Given the description of an element on the screen output the (x, y) to click on. 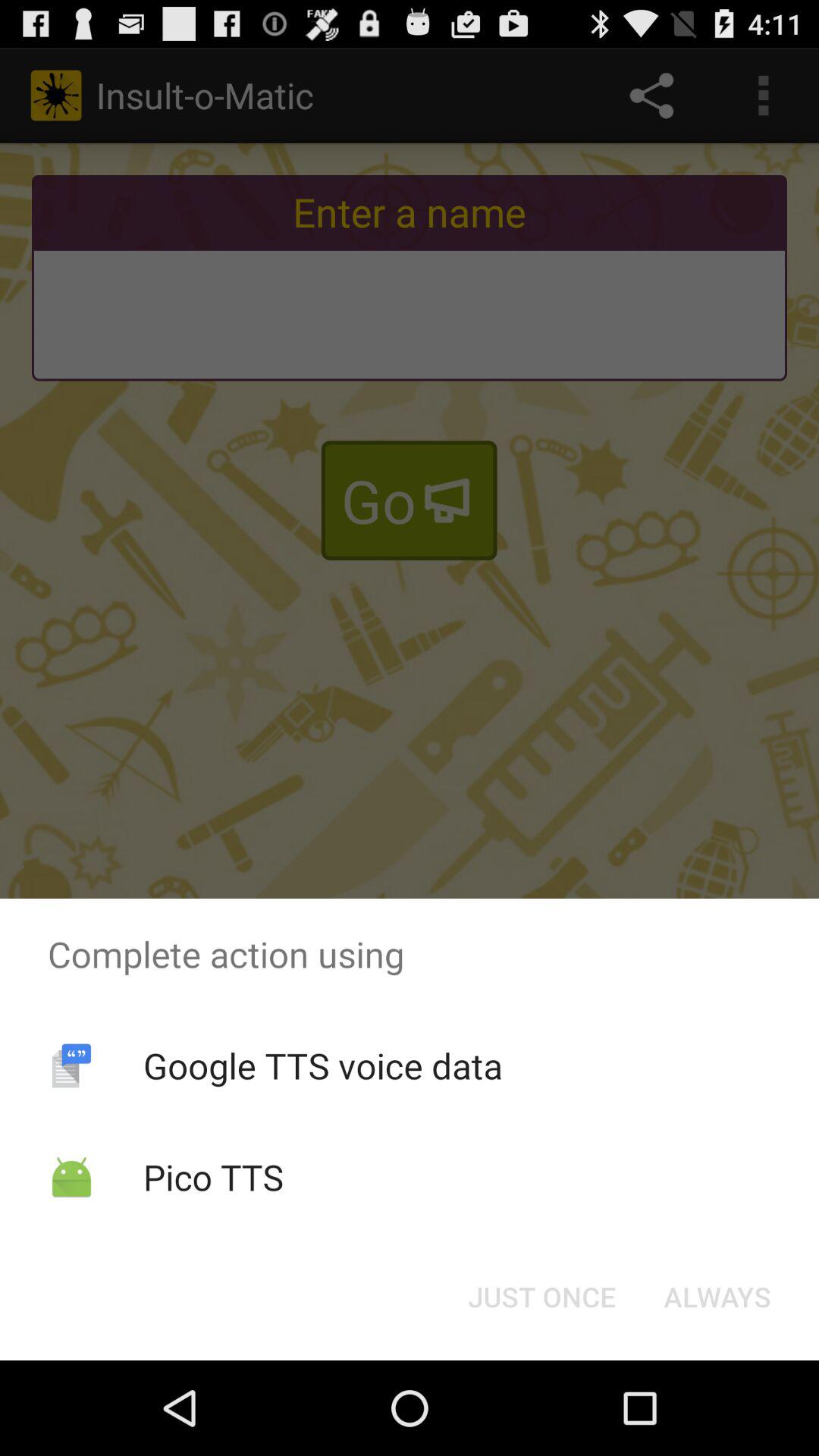
jump until just once item (541, 1296)
